Given the description of an element on the screen output the (x, y) to click on. 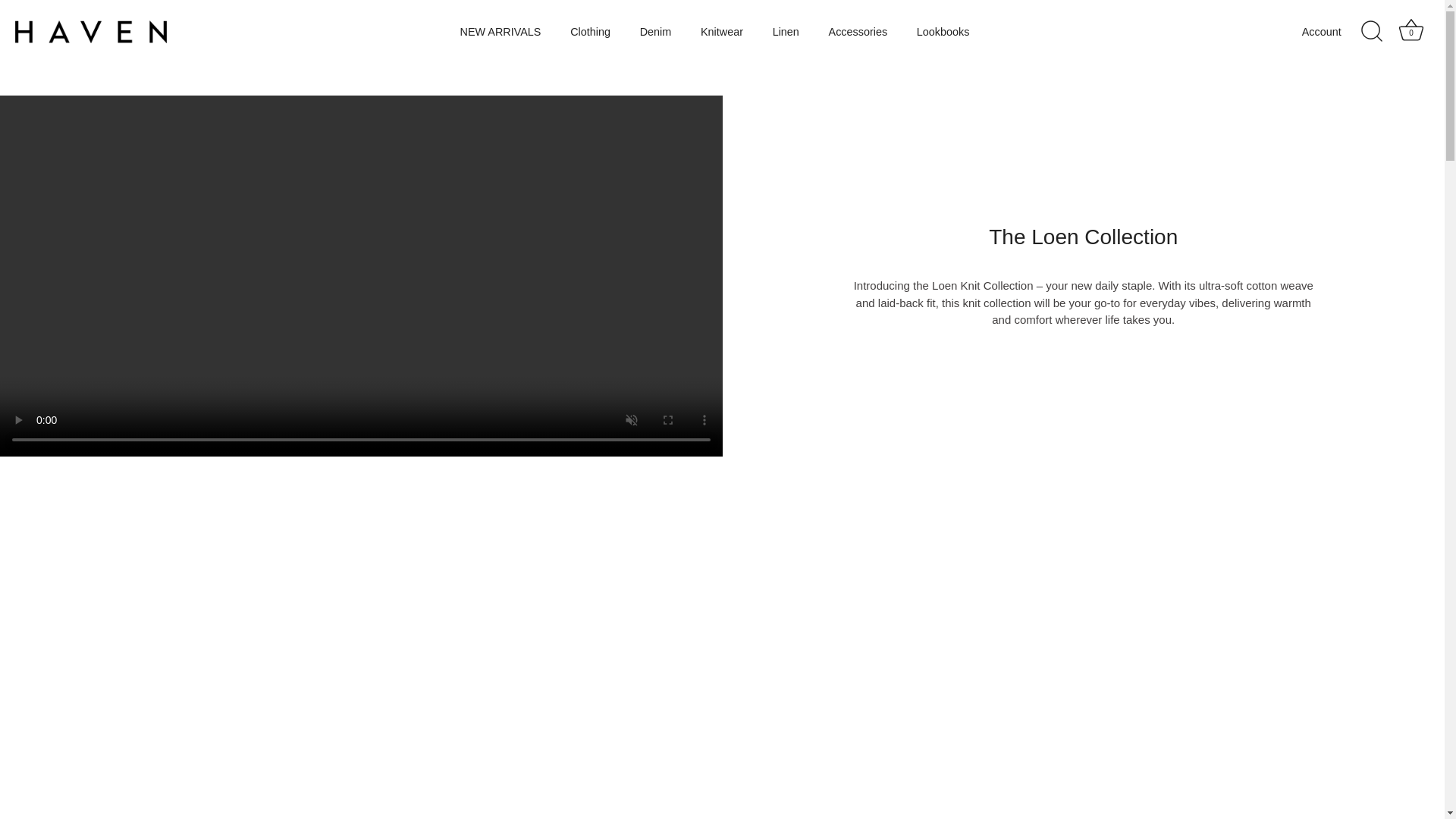
Clothing (590, 31)
NEW ARRIVALS (499, 31)
Basket (1410, 30)
